Given the description of an element on the screen output the (x, y) to click on. 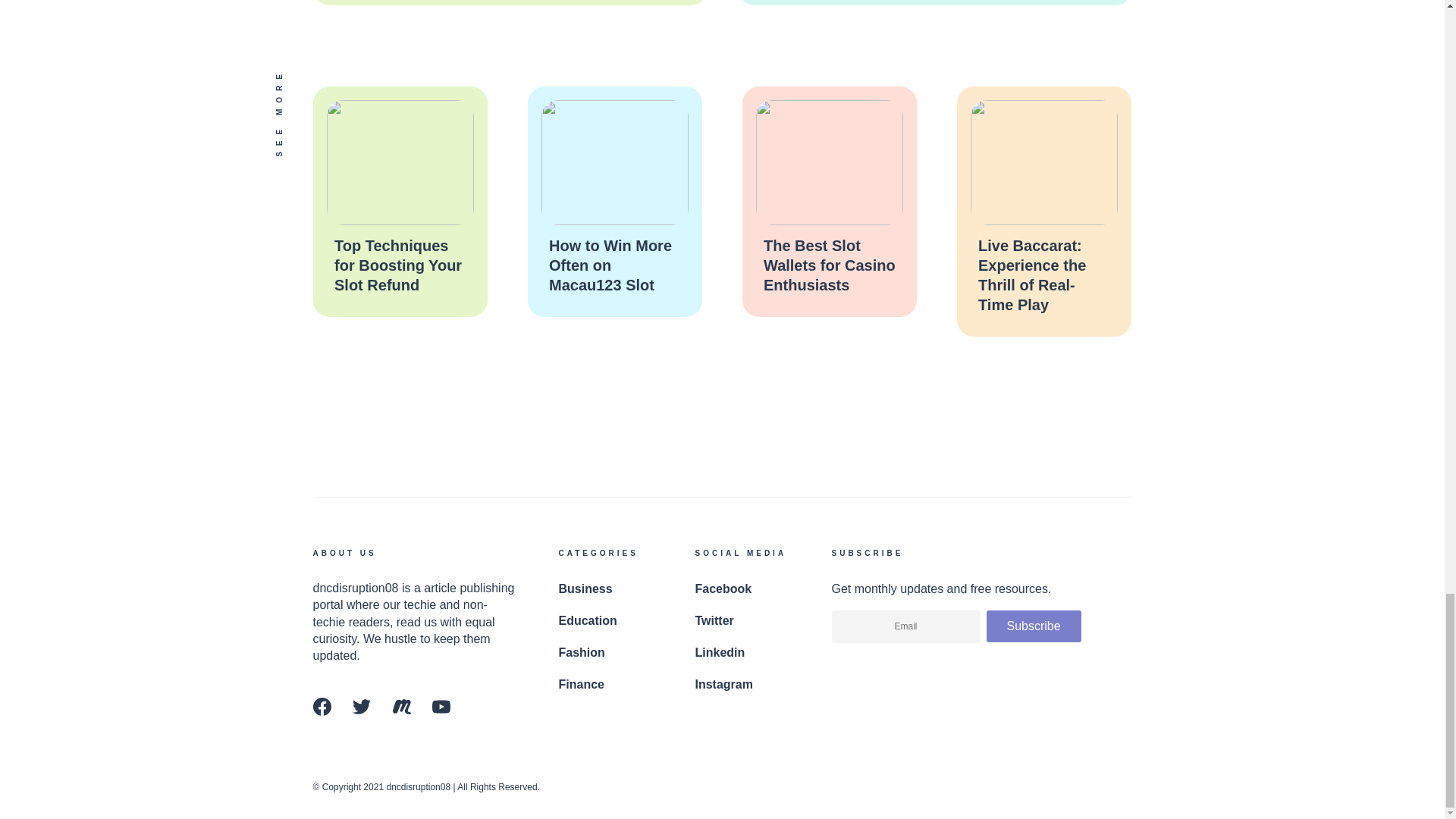
How to Win More Often on Macau123 Slot (609, 265)
Top Techniques for Boosting Your Slot Refund (397, 265)
The Best Slot Wallets for Casino Enthusiasts (828, 265)
Live Baccarat: Experience the Thrill of Real-Time Play (1032, 274)
